Given the description of an element on the screen output the (x, y) to click on. 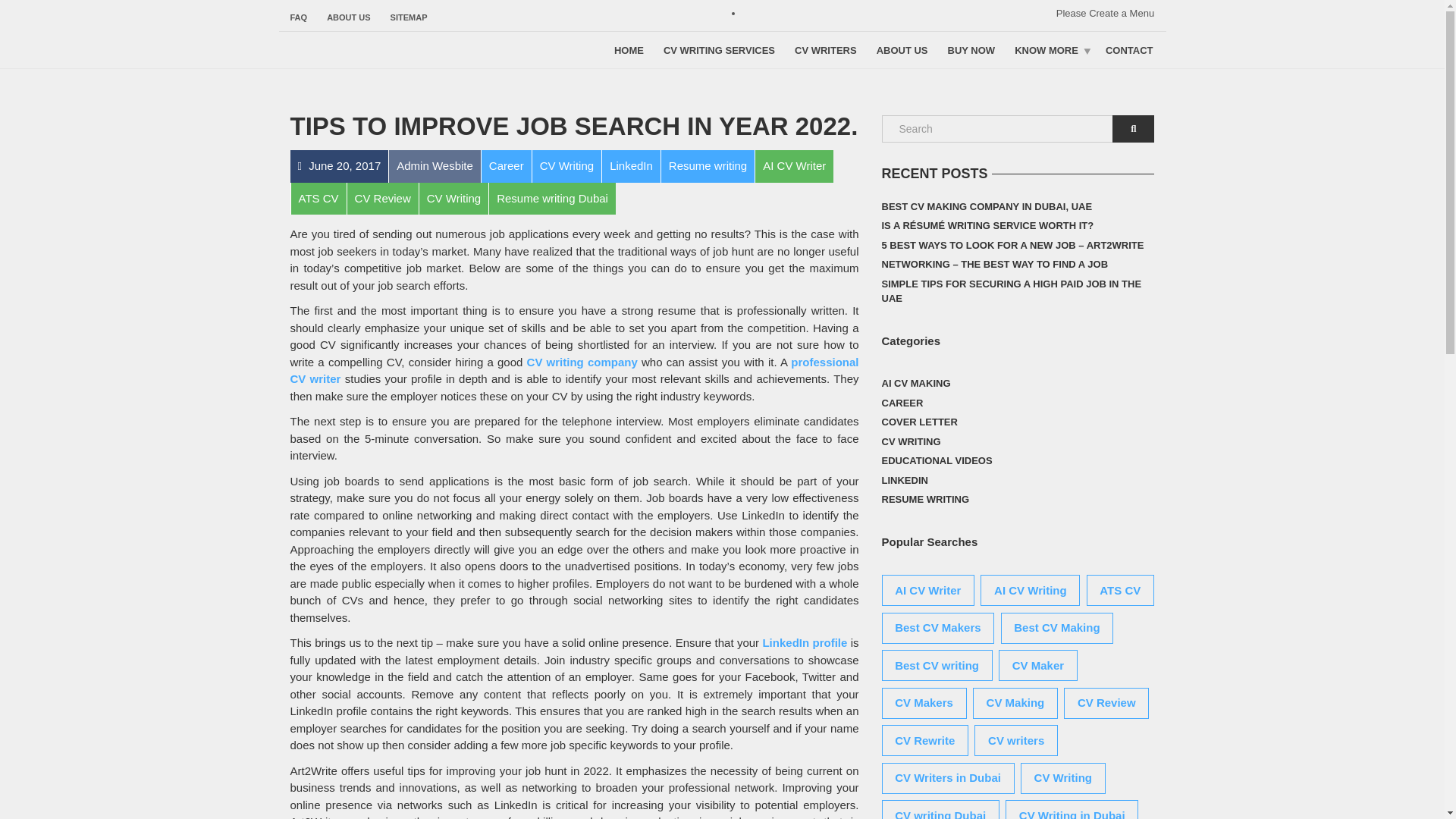
CV WRITING SERVICES (718, 50)
ABOUT US (348, 17)
CV WRITERS (825, 50)
CV Writing Services (718, 50)
CV writing company (582, 361)
LinkedIn profile (804, 642)
SITEMAP (404, 17)
Sitemap (404, 17)
CV Writing (453, 197)
LinkedIn (631, 164)
